Given the description of an element on the screen output the (x, y) to click on. 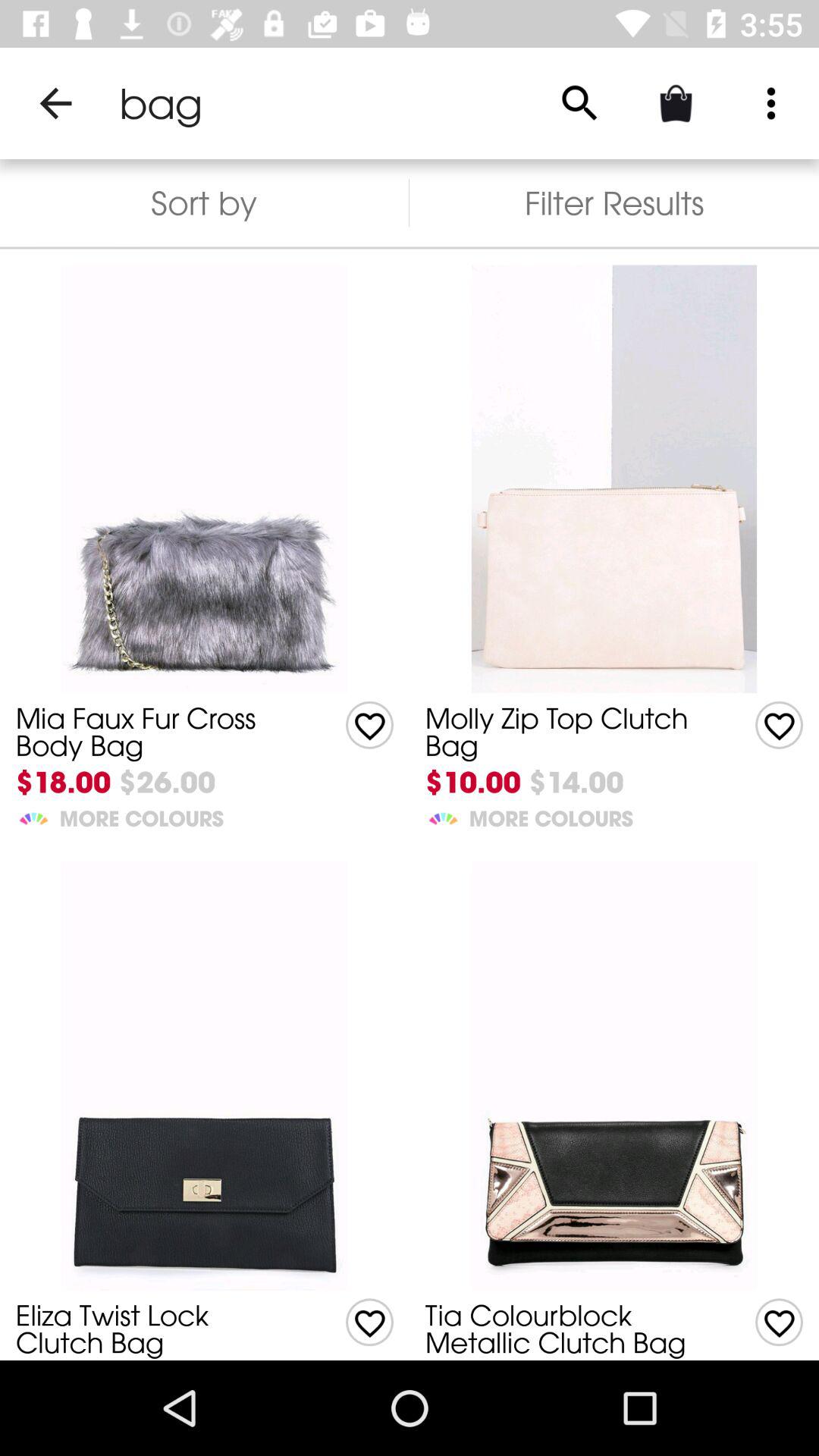
tap the item to the right of the sort by icon (614, 202)
